Given the description of an element on the screen output the (x, y) to click on. 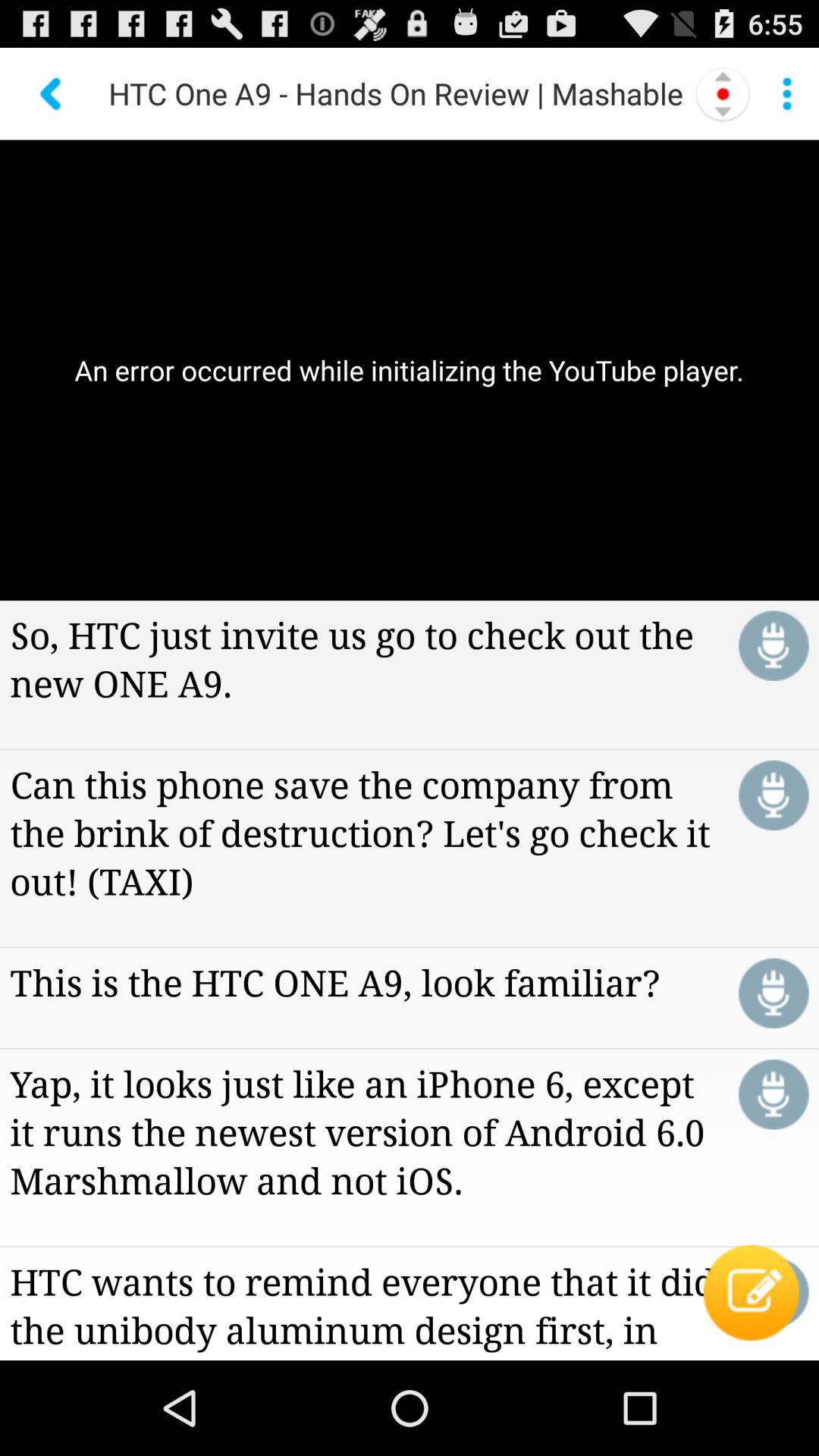
see more information (787, 93)
